Given the description of an element on the screen output the (x, y) to click on. 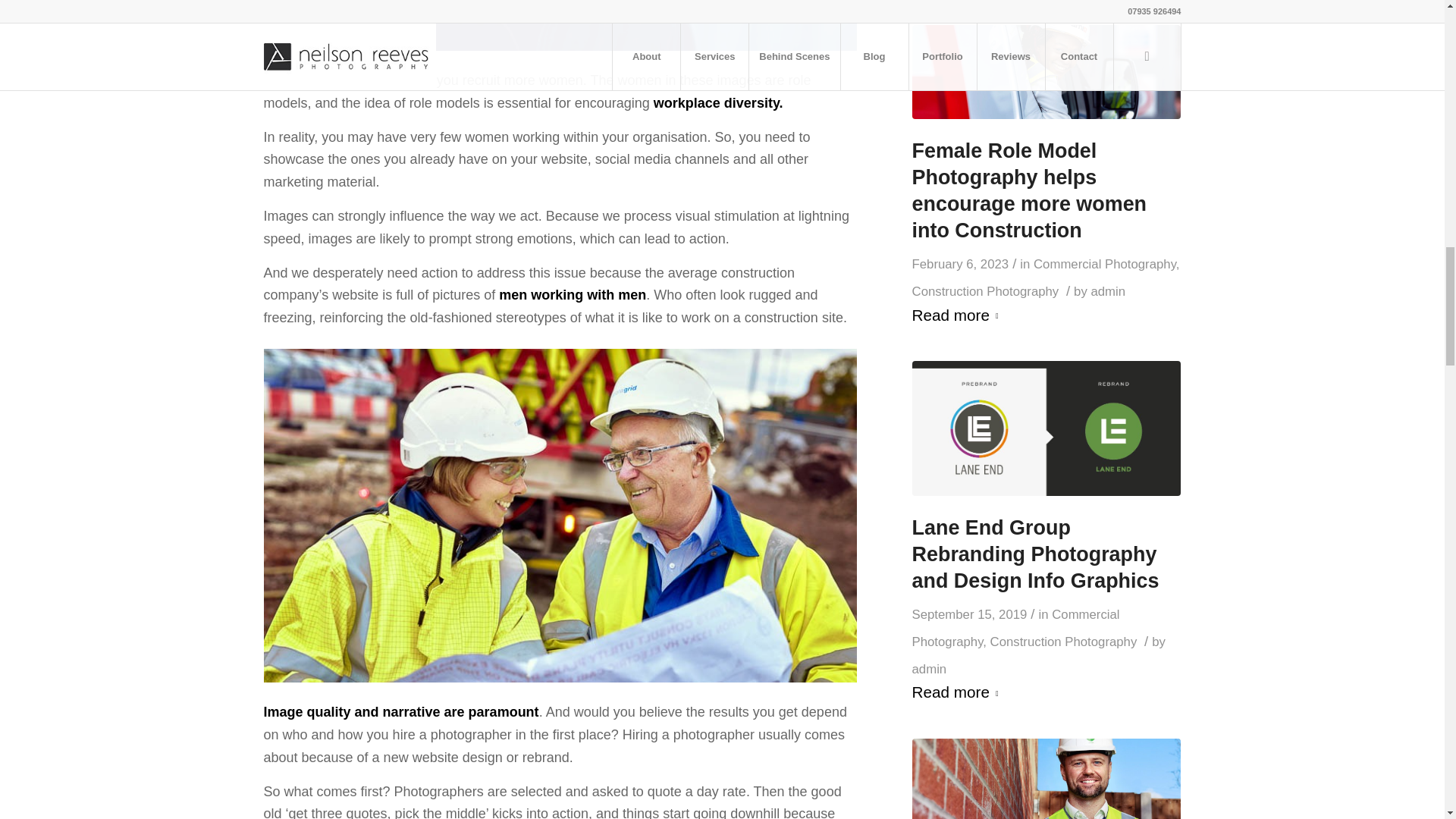
Posts by admin (1107, 291)
